Given the description of an element on the screen output the (x, y) to click on. 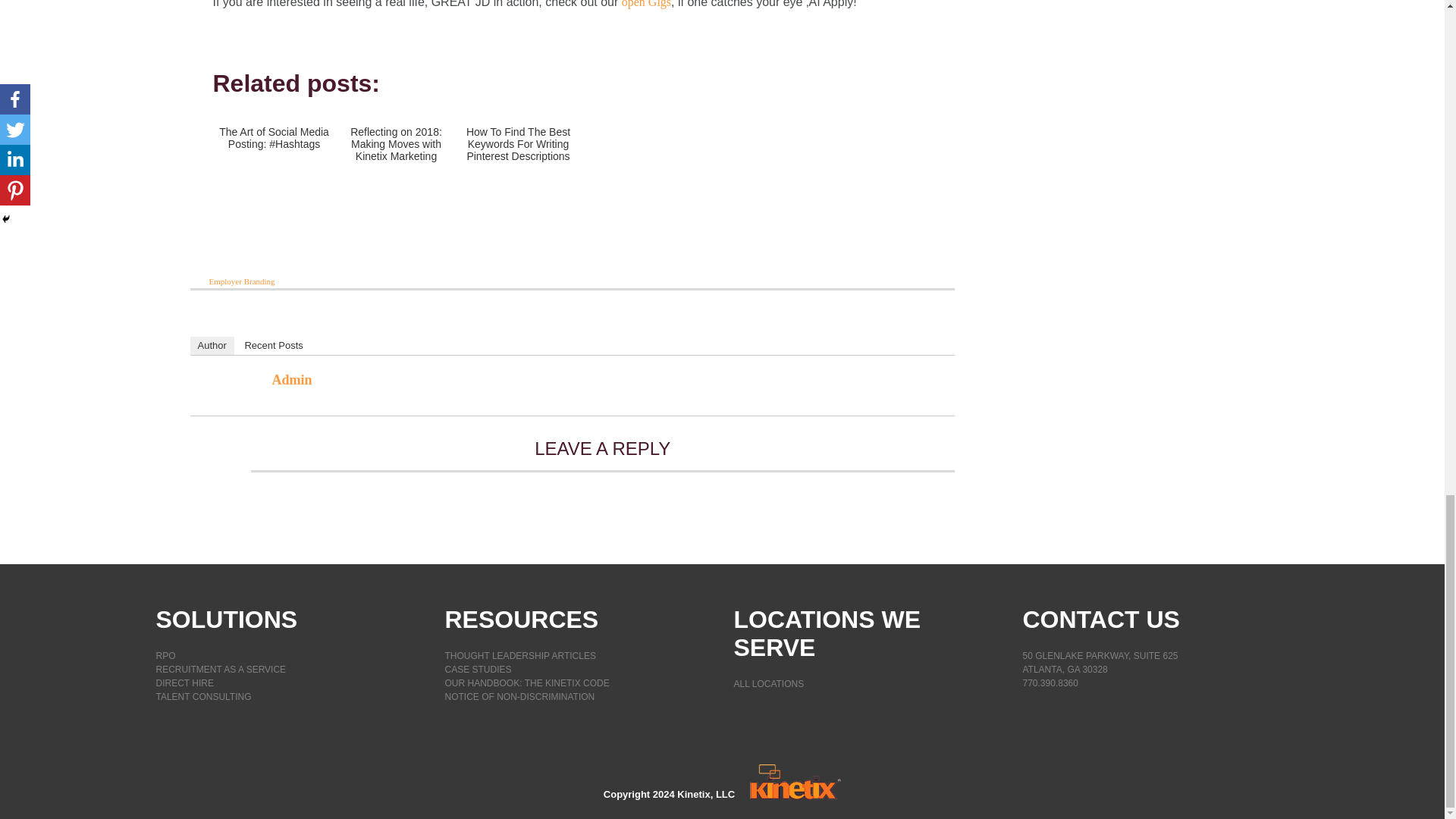
kinetix-logo-clear1 (795, 782)
Author (210, 345)
Admin (290, 379)
Recent Posts (272, 345)
open Gigs (646, 4)
Employer Branding (242, 280)
